Given the description of an element on the screen output the (x, y) to click on. 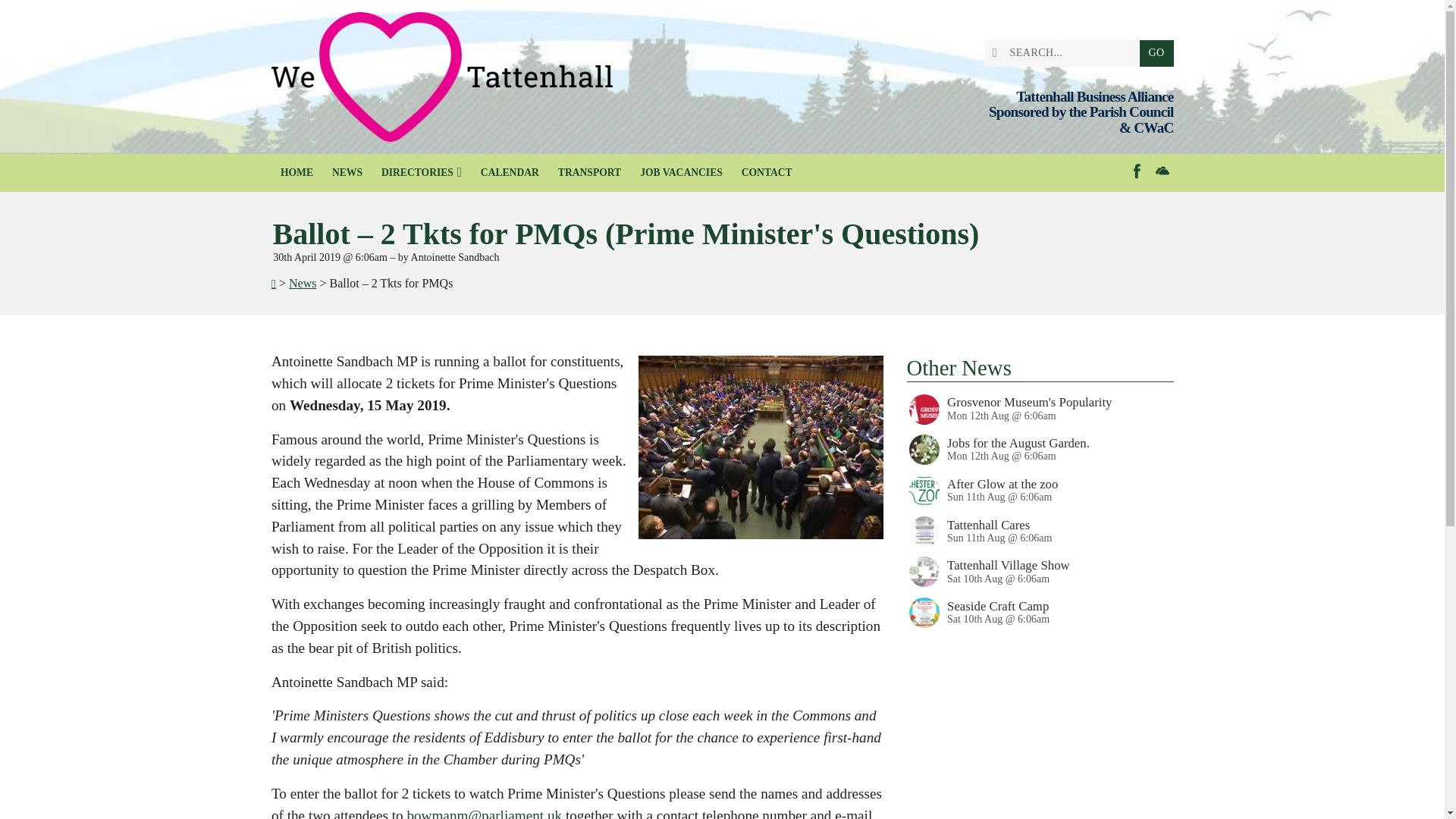
GO (1155, 53)
News (301, 282)
CALENDAR (509, 172)
JOB VACANCIES (681, 172)
DIRECTORIES (420, 172)
TRANSPORT (589, 172)
SEARCH... (1065, 53)
NEWS (346, 172)
Sign into the Cloud (1162, 170)
